Given the description of an element on the screen output the (x, y) to click on. 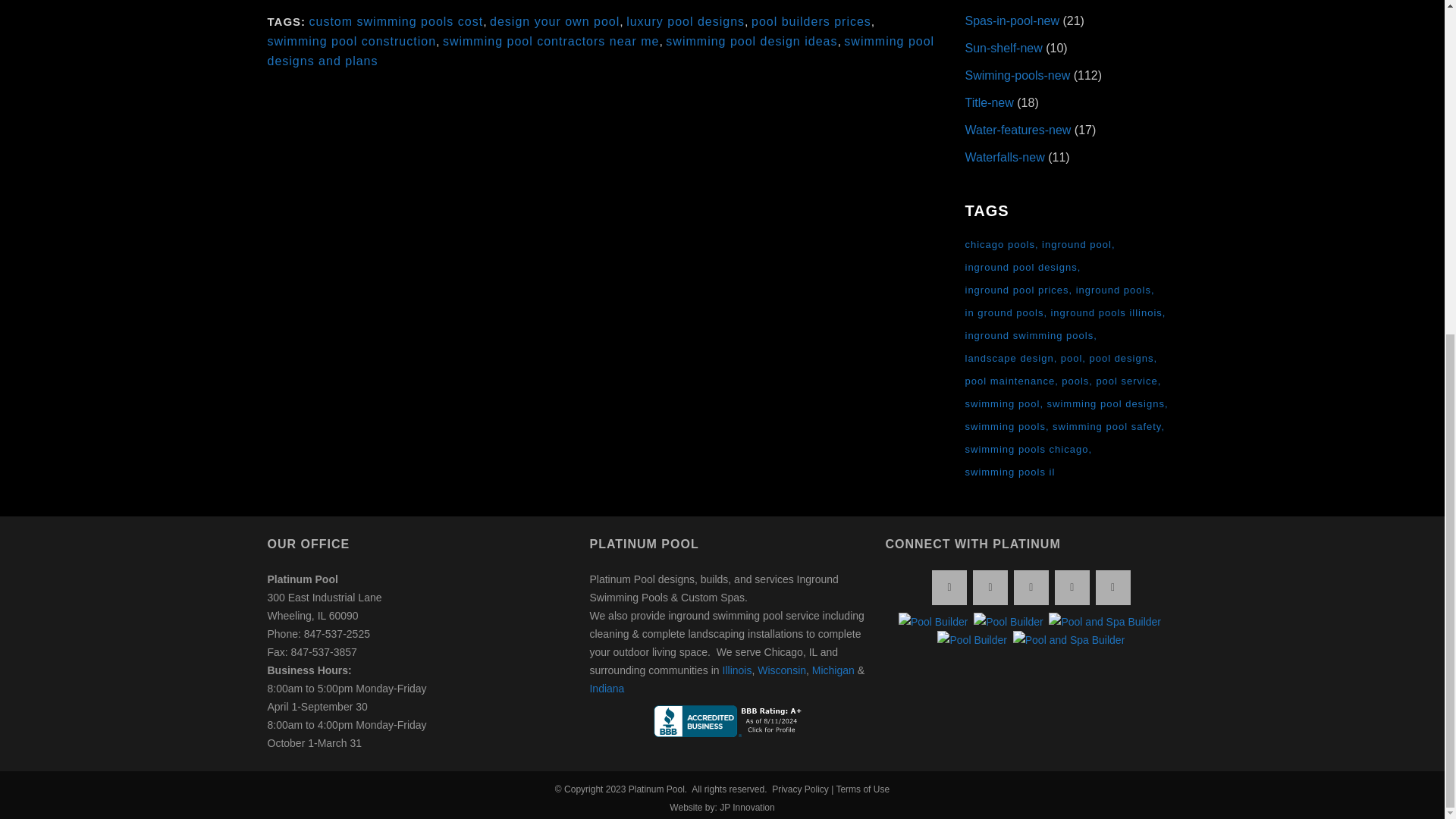
Pool builder (972, 639)
Pool builder (1008, 621)
Pool builder (933, 621)
Pool and Spa builder (1069, 639)
Pool and Spa builder (1104, 621)
